Given the description of an element on the screen output the (x, y) to click on. 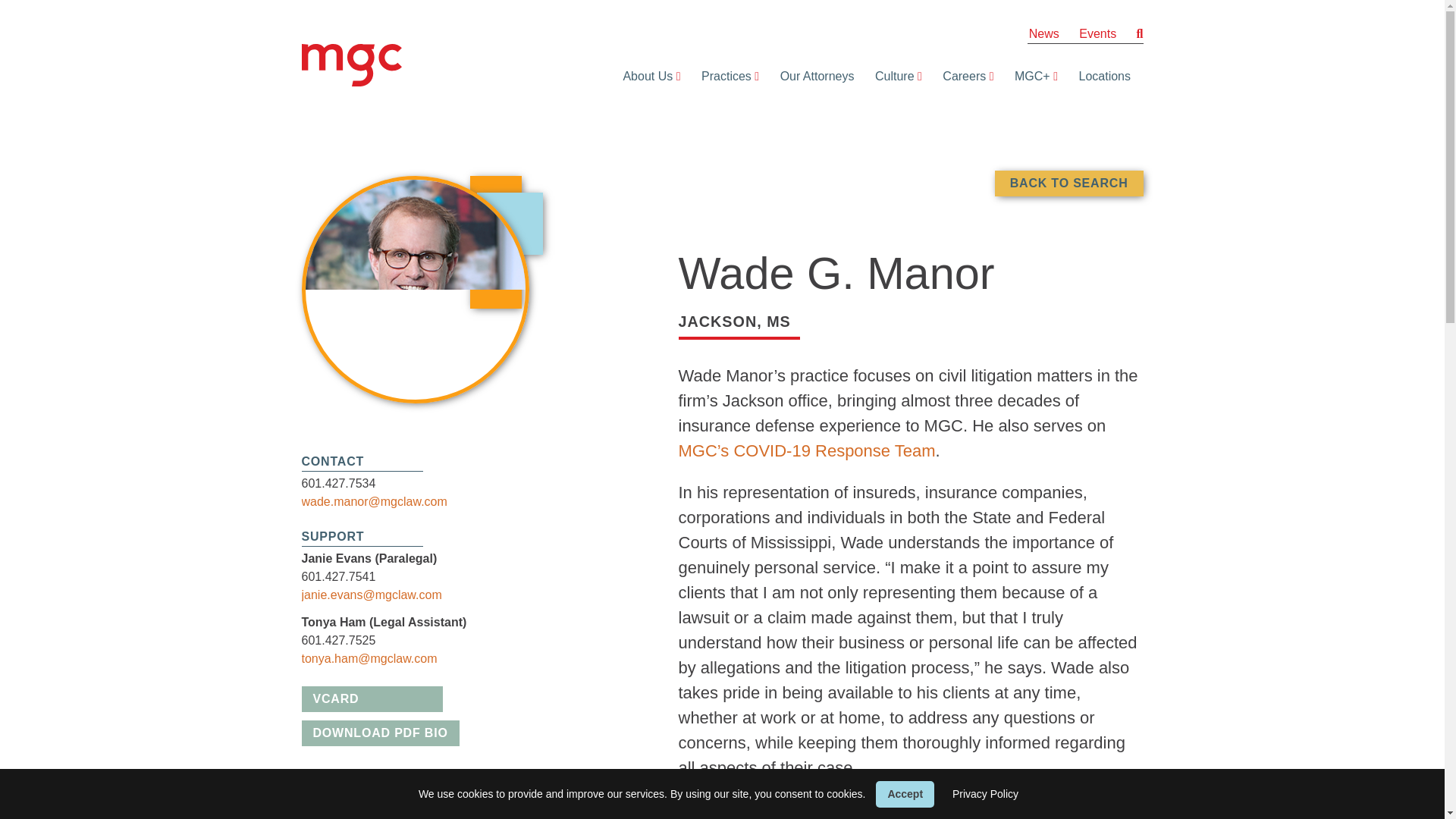
601.427.7525 (338, 640)
Careers (959, 76)
Our Attorneys (812, 76)
About Us (643, 76)
Culture (890, 76)
News (1044, 33)
Events (1097, 33)
Locations (1100, 76)
BACK TO SEARCH (1068, 183)
601.427.7534 (338, 481)
601.427.7541 (338, 576)
Practices (722, 76)
